Given the description of an element on the screen output the (x, y) to click on. 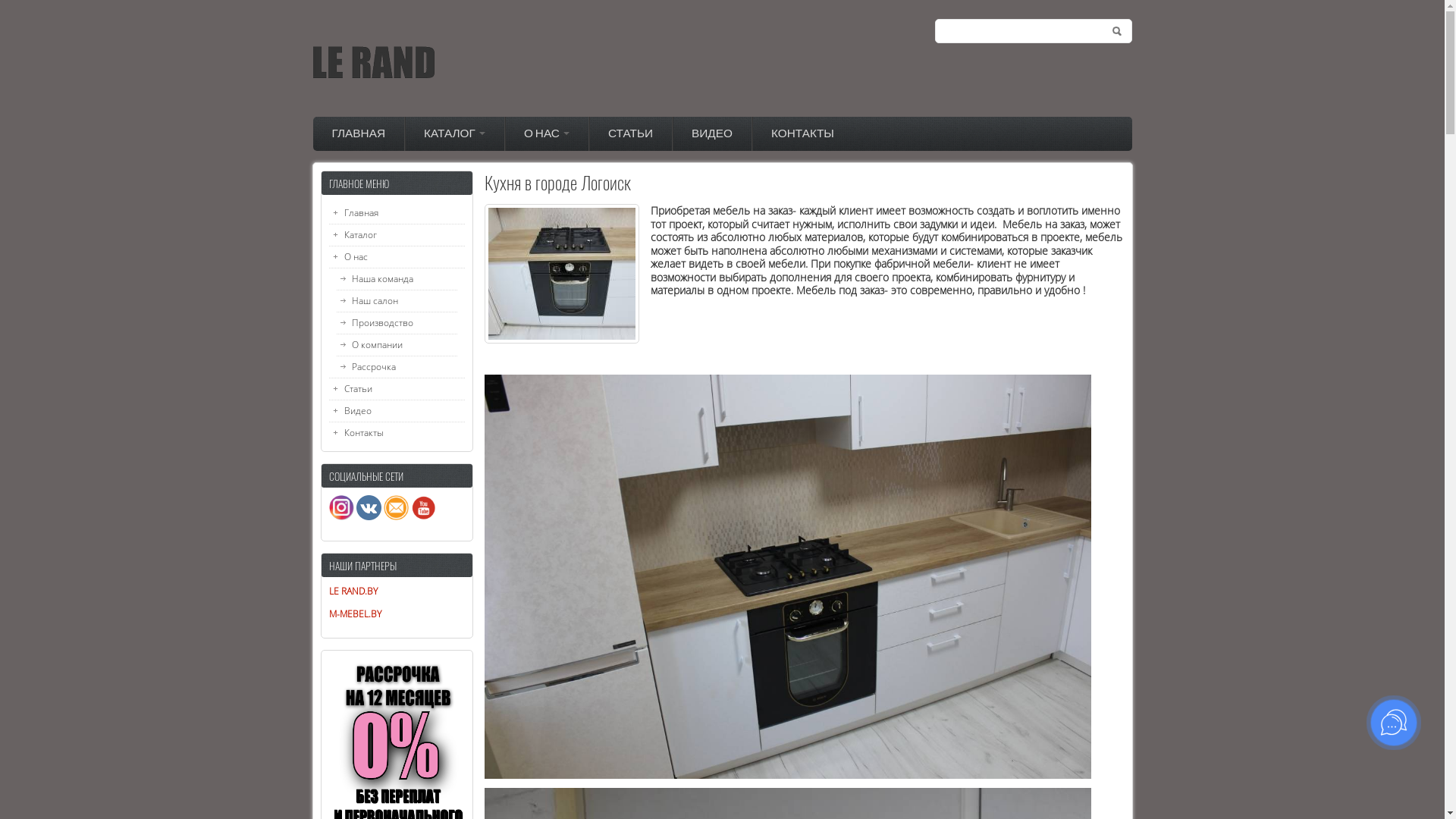
  Element type: text (354, 516)
LE RAND.BY Element type: text (353, 590)
M-MEBEL.BY Element type: text (355, 613)
